Given the description of an element on the screen output the (x, y) to click on. 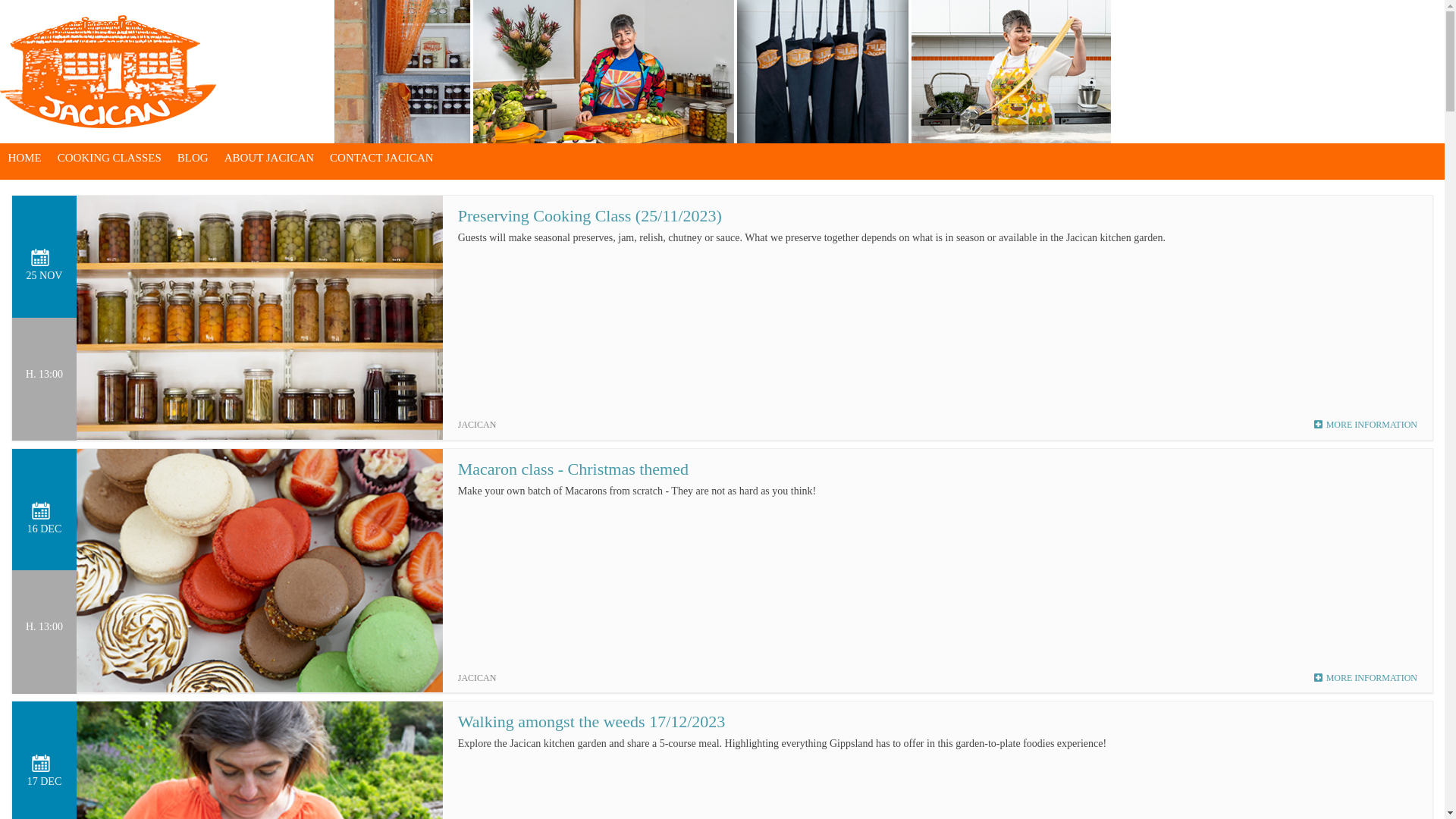
Jacican Element type: hover (108, 71)
Preserving Cooking Class (25/11/2023) Element type: text (589, 215)
HOME Element type: text (24, 158)
ABOUT JACICAN Element type: text (268, 158)
CONTACT JACICAN Element type: text (381, 158)
COOKING CLASSES Element type: text (109, 158)
BLOG Element type: text (192, 158)
Walking amongst the weeds 17/12/2023 Element type: text (591, 721)
MORE INFORMATION Element type: text (1365, 677)
Macaron class - Christmas themed Element type: text (573, 468)
MORE INFORMATION Element type: text (1365, 424)
